Given the description of an element on the screen output the (x, y) to click on. 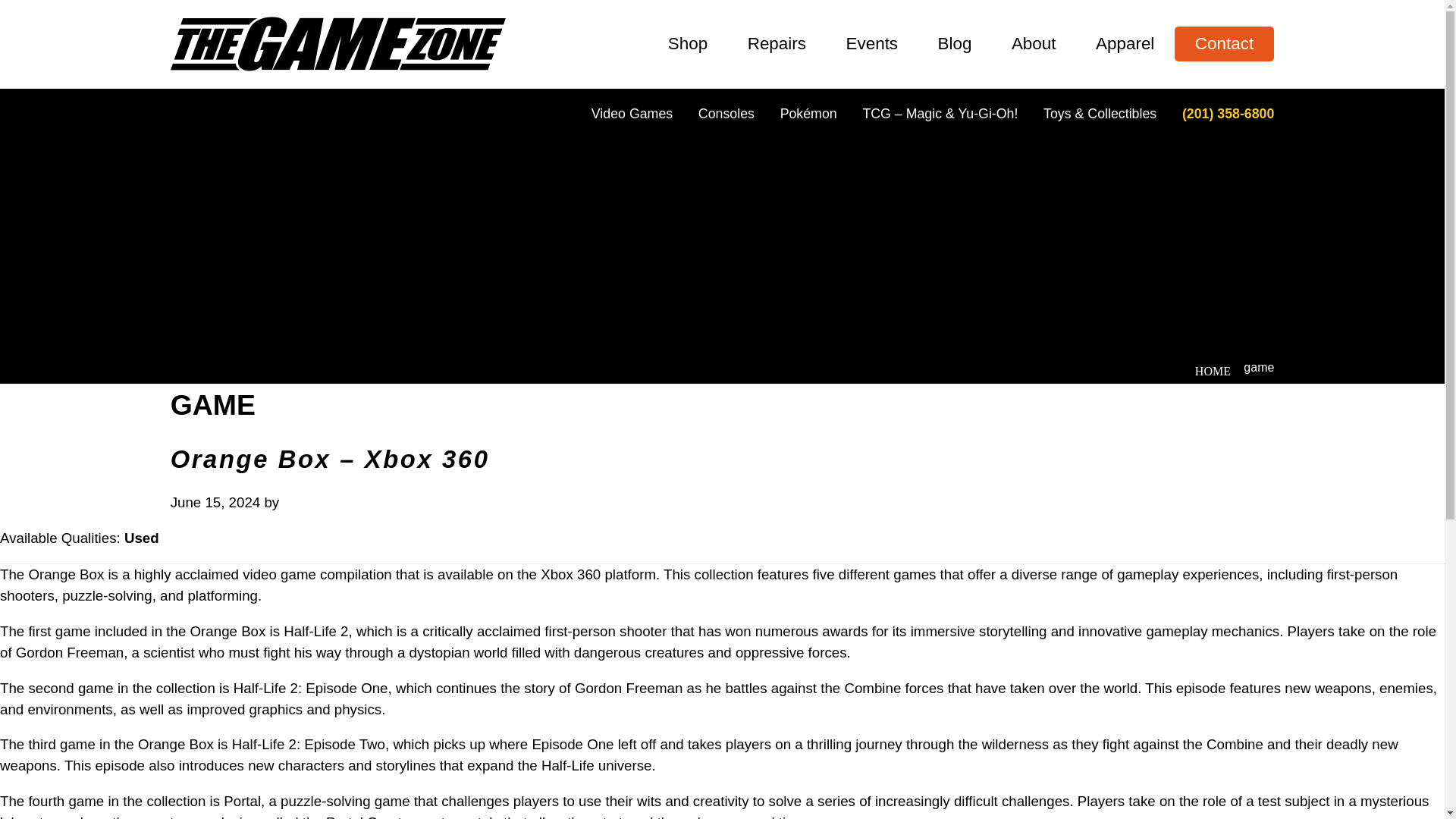
Repairs (775, 43)
Contact (1224, 43)
About (1033, 43)
Events (871, 43)
Video Games (631, 113)
Consoles (726, 113)
Shop (687, 43)
Blog (954, 43)
Apparel (1124, 43)
HOME (1212, 370)
